Given the description of an element on the screen output the (x, y) to click on. 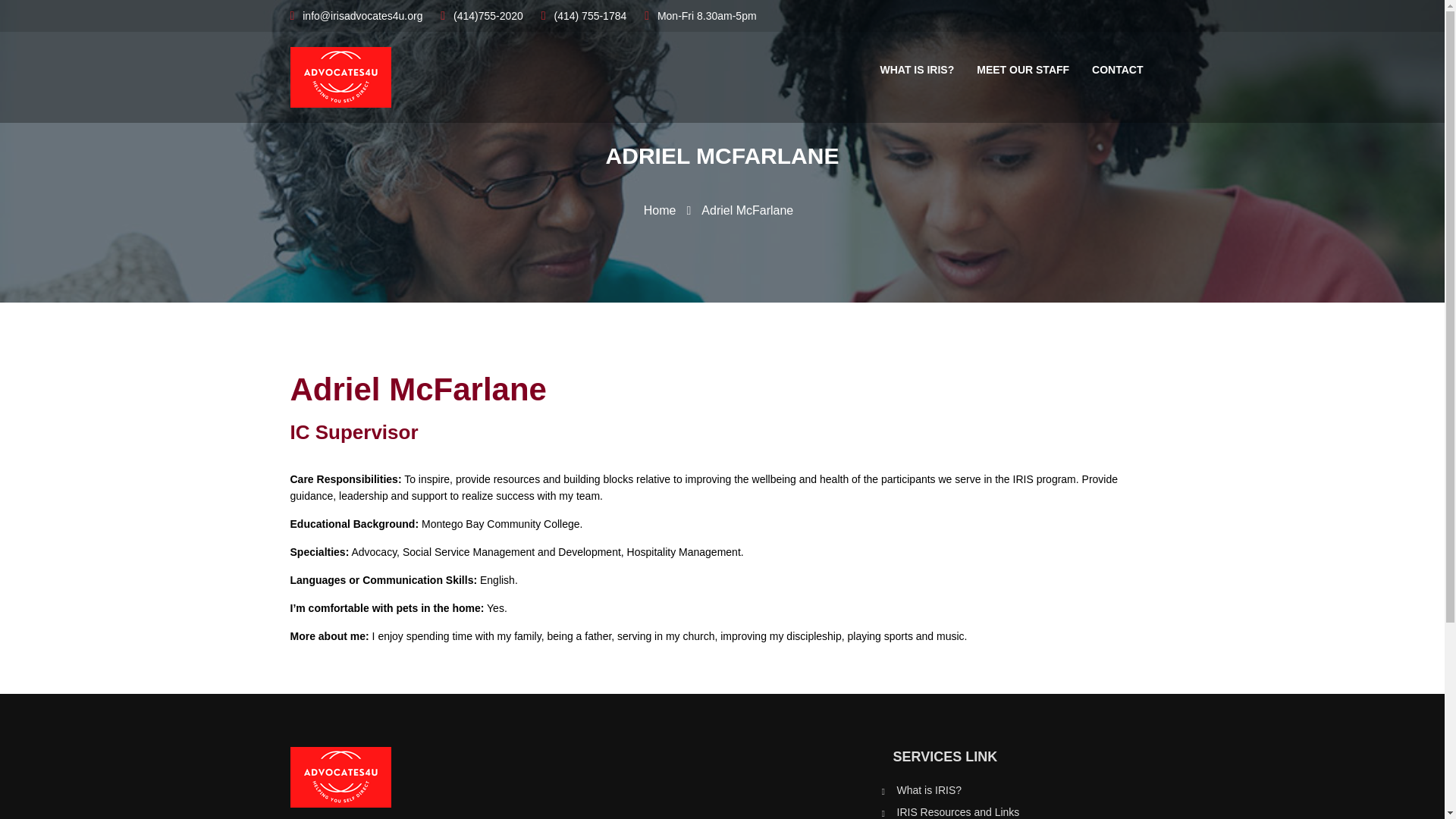
MEET OUR STAFF (1022, 69)
WHAT IS IRIS? (917, 69)
Mon-Fri 8.30am-5pm (700, 15)
CONTACT (1117, 69)
